Given the description of an element on the screen output the (x, y) to click on. 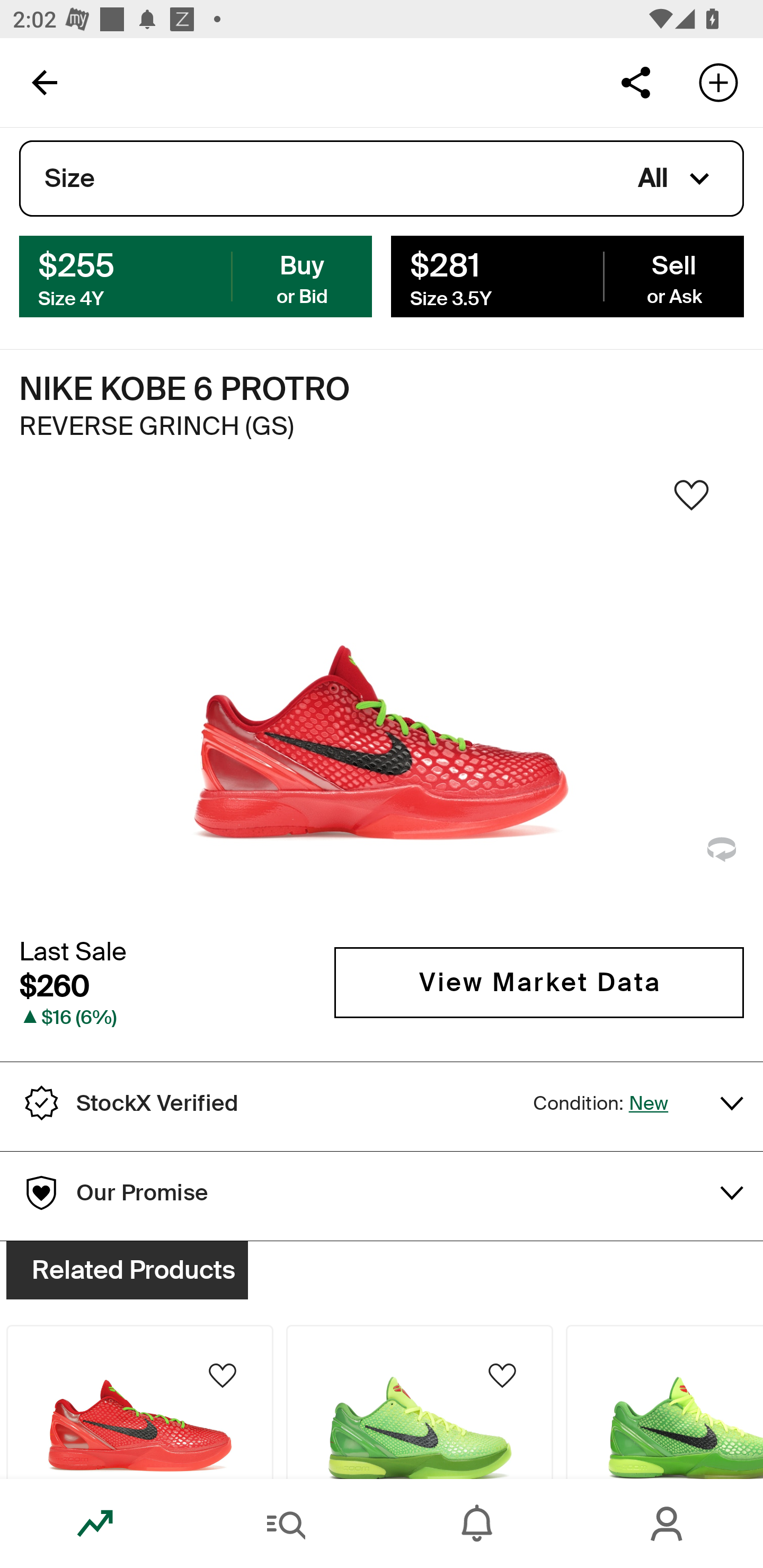
Share (635, 81)
Add (718, 81)
Size All (381, 178)
$255 Buy Size 4Y or Bid (195, 275)
$281 Sell Size 3.5Y or Ask (566, 275)
Sneaker Image (381, 699)
View Market Data (538, 982)
Product Image (139, 1401)
Product Image (419, 1401)
Product Image (664, 1401)
Search (285, 1523)
Inbox (476, 1523)
Account (667, 1523)
